Given the description of an element on the screen output the (x, y) to click on. 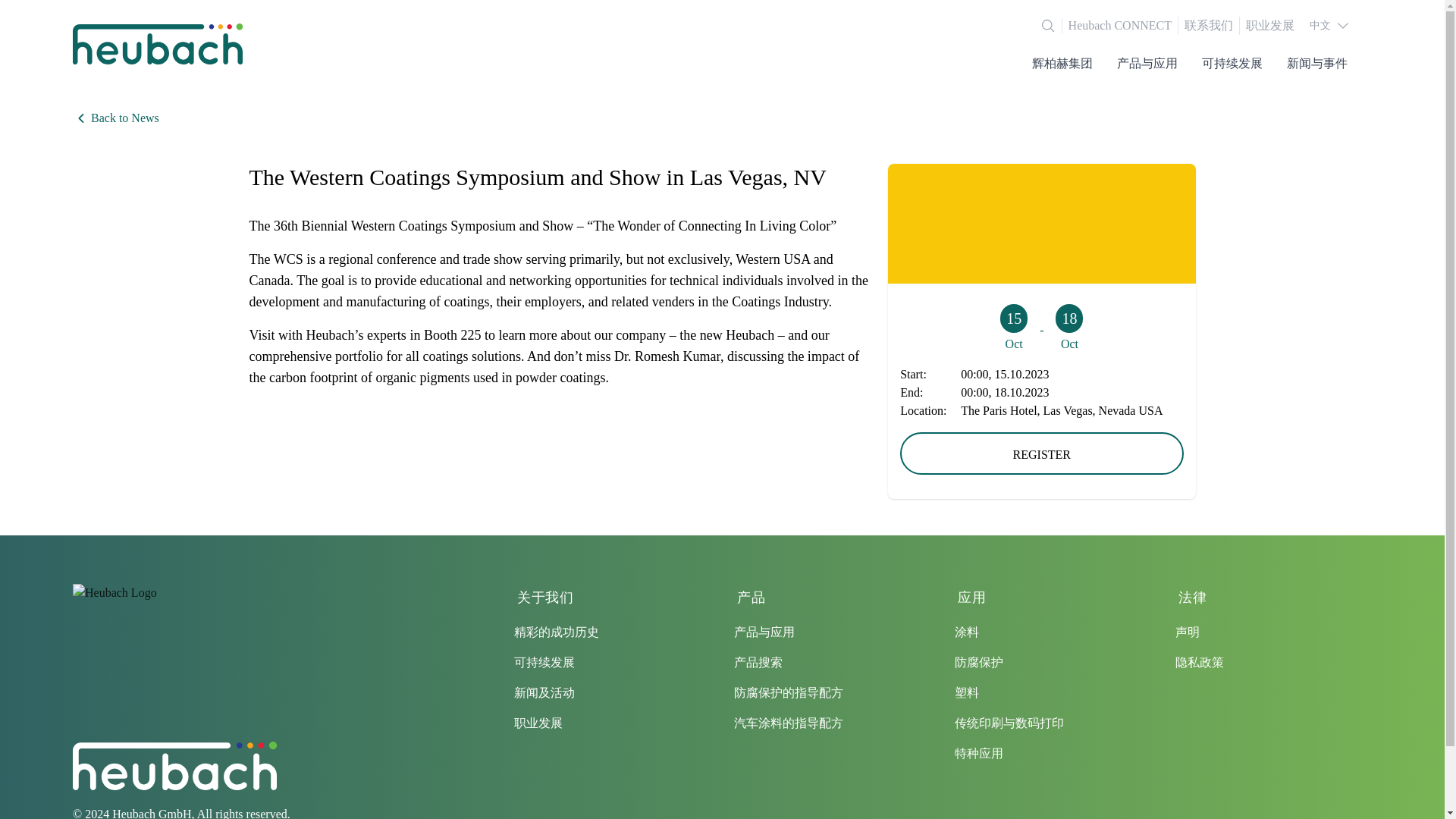
REGISTER (1040, 453)
Back to News (721, 117)
Heubach CONNECT (1122, 25)
